Given the description of an element on the screen output the (x, y) to click on. 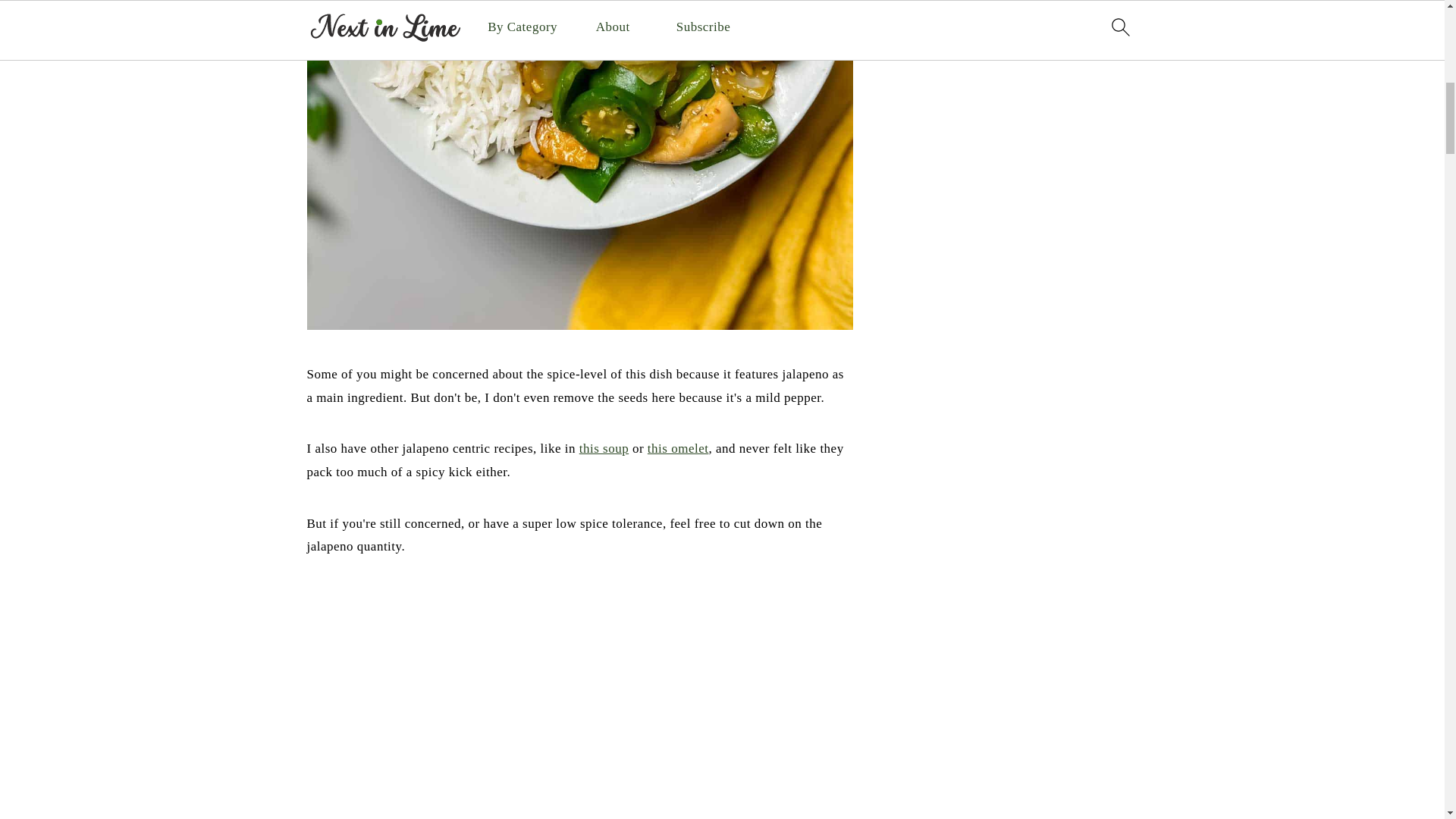
this soup (603, 448)
this omelet (678, 448)
